Given the description of an element on the screen output the (x, y) to click on. 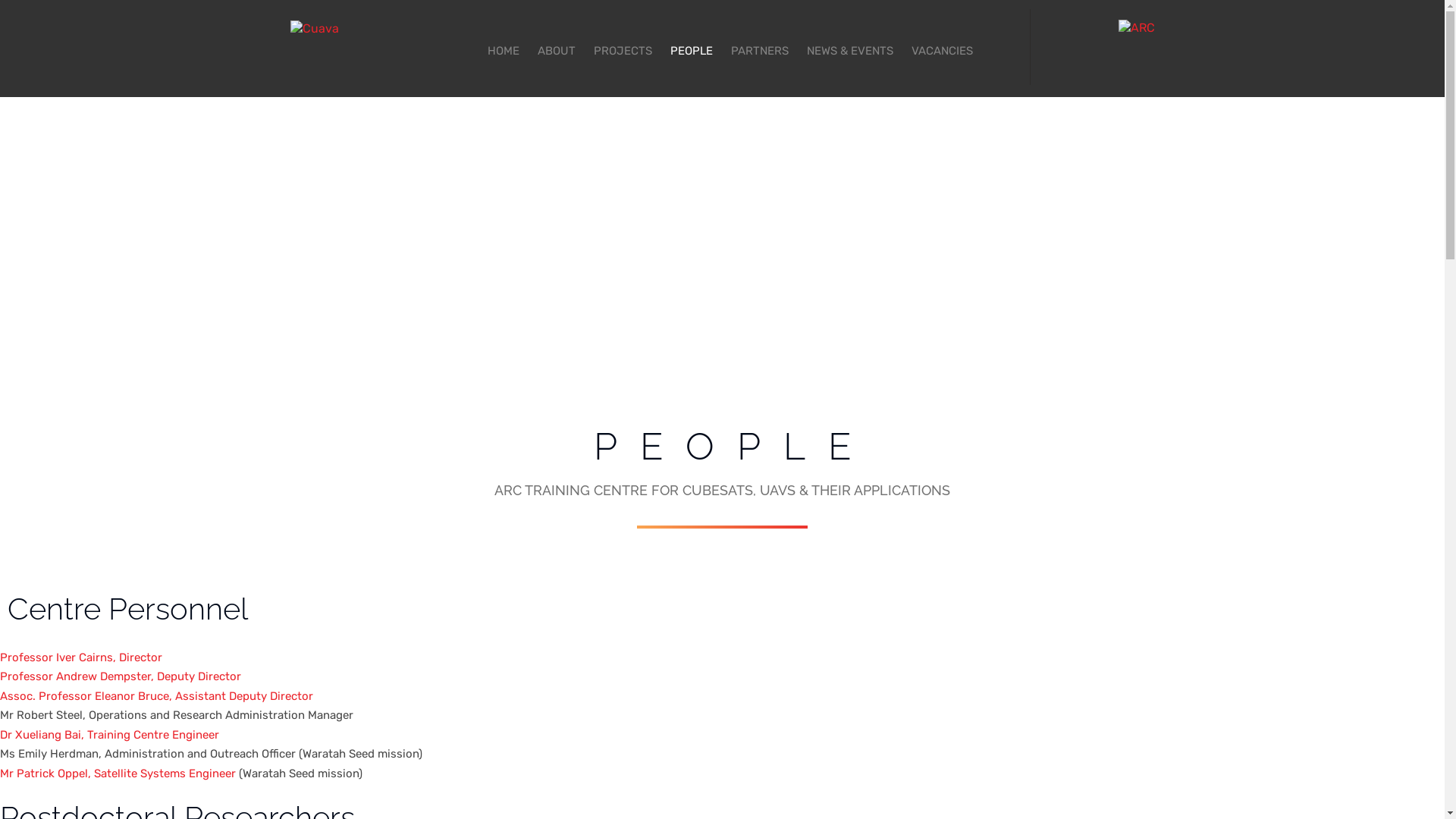
HOME Element type: text (506, 48)
PARTNERS Element type: text (759, 48)
Professor Iver Cairns, Director Element type: text (81, 657)
Professor Andrew Dempster, Deputy Director Element type: text (120, 676)
VACANCIES Element type: text (937, 48)
PROJECTS Element type: text (621, 48)
Assoc. Professor Eleanor Bruce, Assistant Deputy Director Element type: text (156, 695)
Mr Patrick Oppel, Satellite Systems Engineer Element type: text (117, 773)
NEWS & EVENTS Element type: text (849, 48)
ABOUT Element type: text (555, 48)
PEOPLE Element type: text (691, 48)
Dr Xueliang Bai, Training Centre Engineer Element type: text (109, 734)
